Given the description of an element on the screen output the (x, y) to click on. 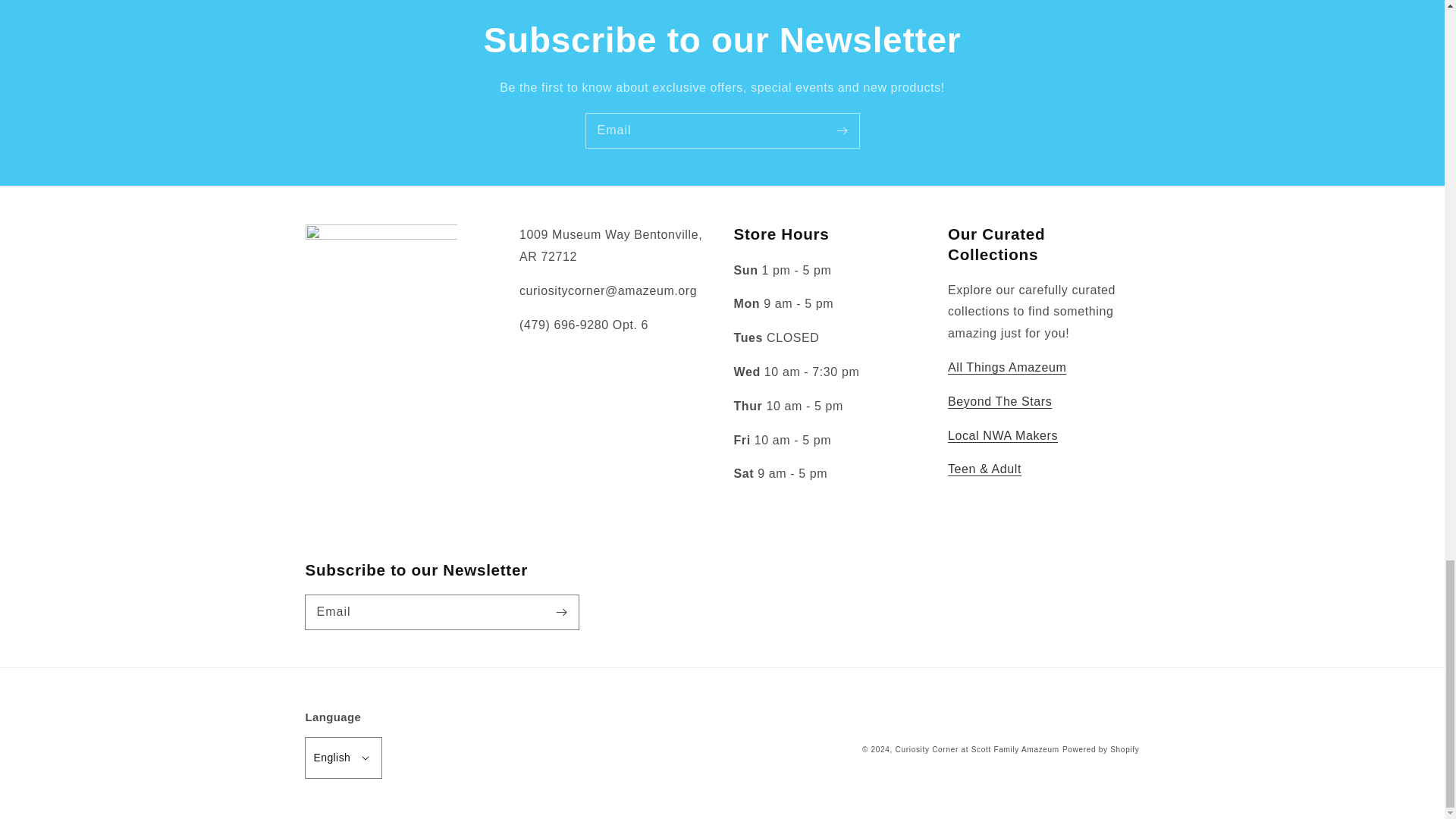
Branded Merch (1006, 367)
Local Makers (1002, 435)
Beyond The Stars (999, 400)
